Given the description of an element on the screen output the (x, y) to click on. 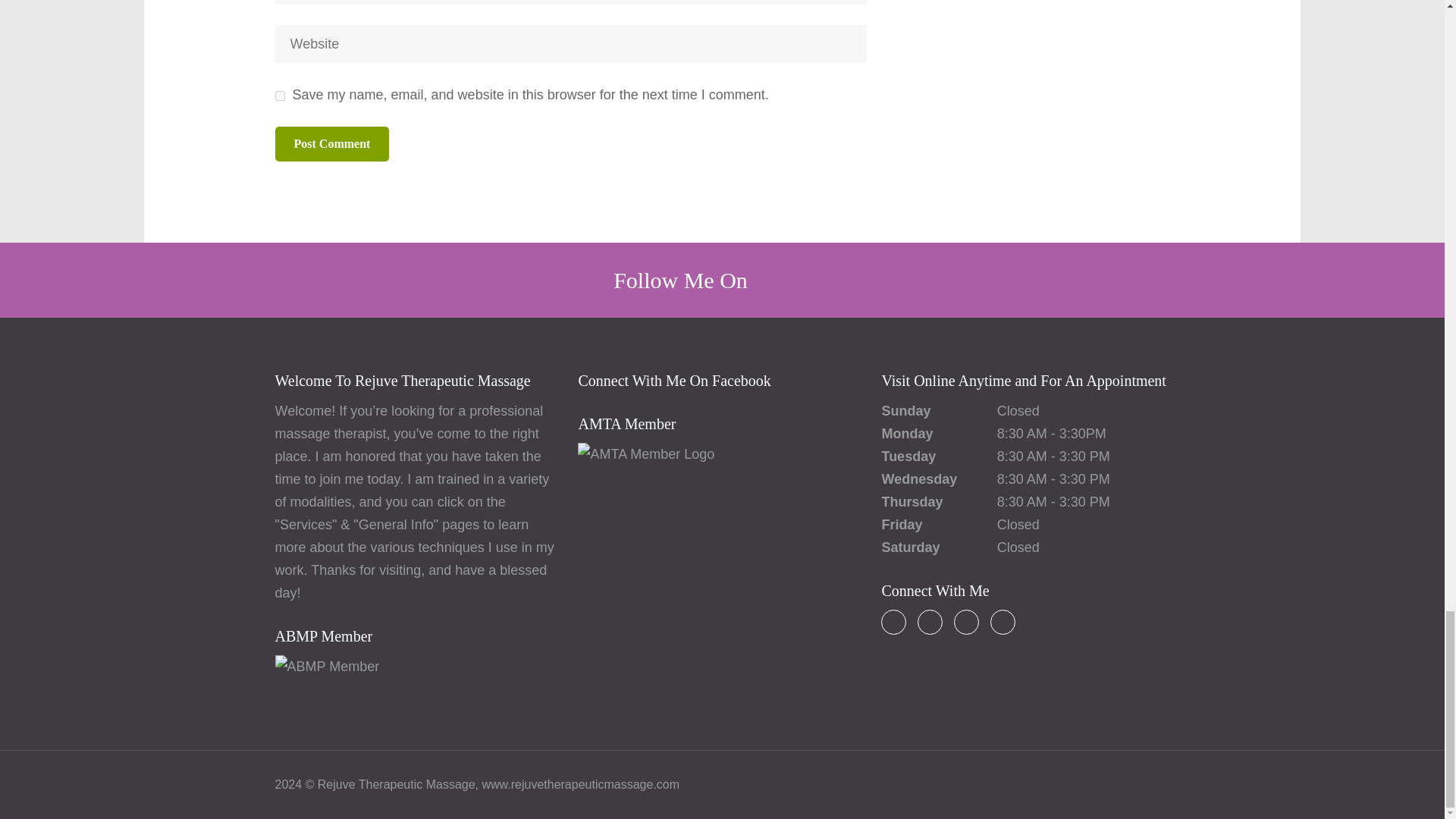
Post Comment (331, 143)
Facebook (892, 621)
yes (279, 95)
